Given the description of an element on the screen output the (x, y) to click on. 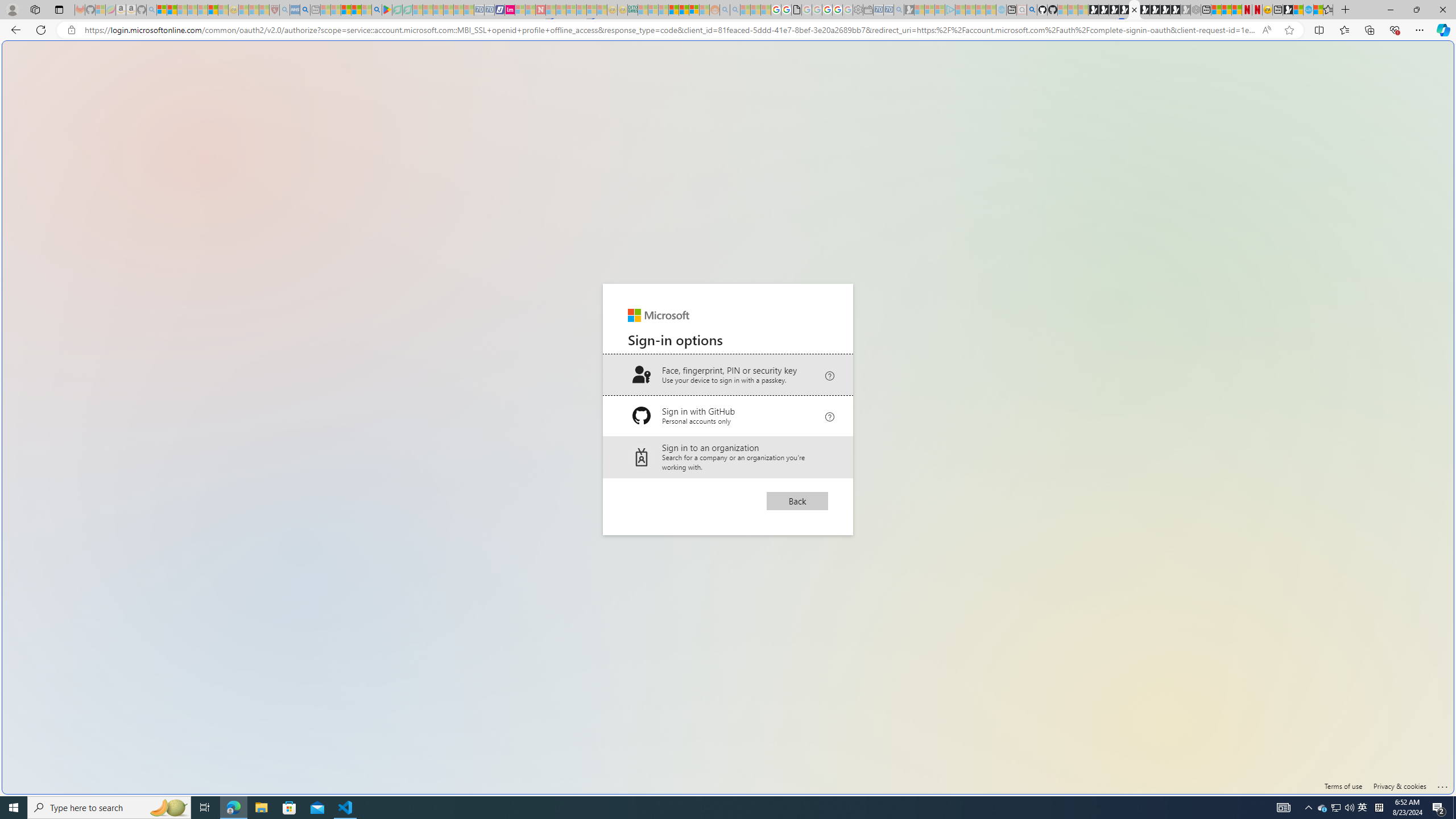
utah sues federal government - Search (922, 389)
utah sues federal government - Search (304, 9)
